Given the description of an element on the screen output the (x, y) to click on. 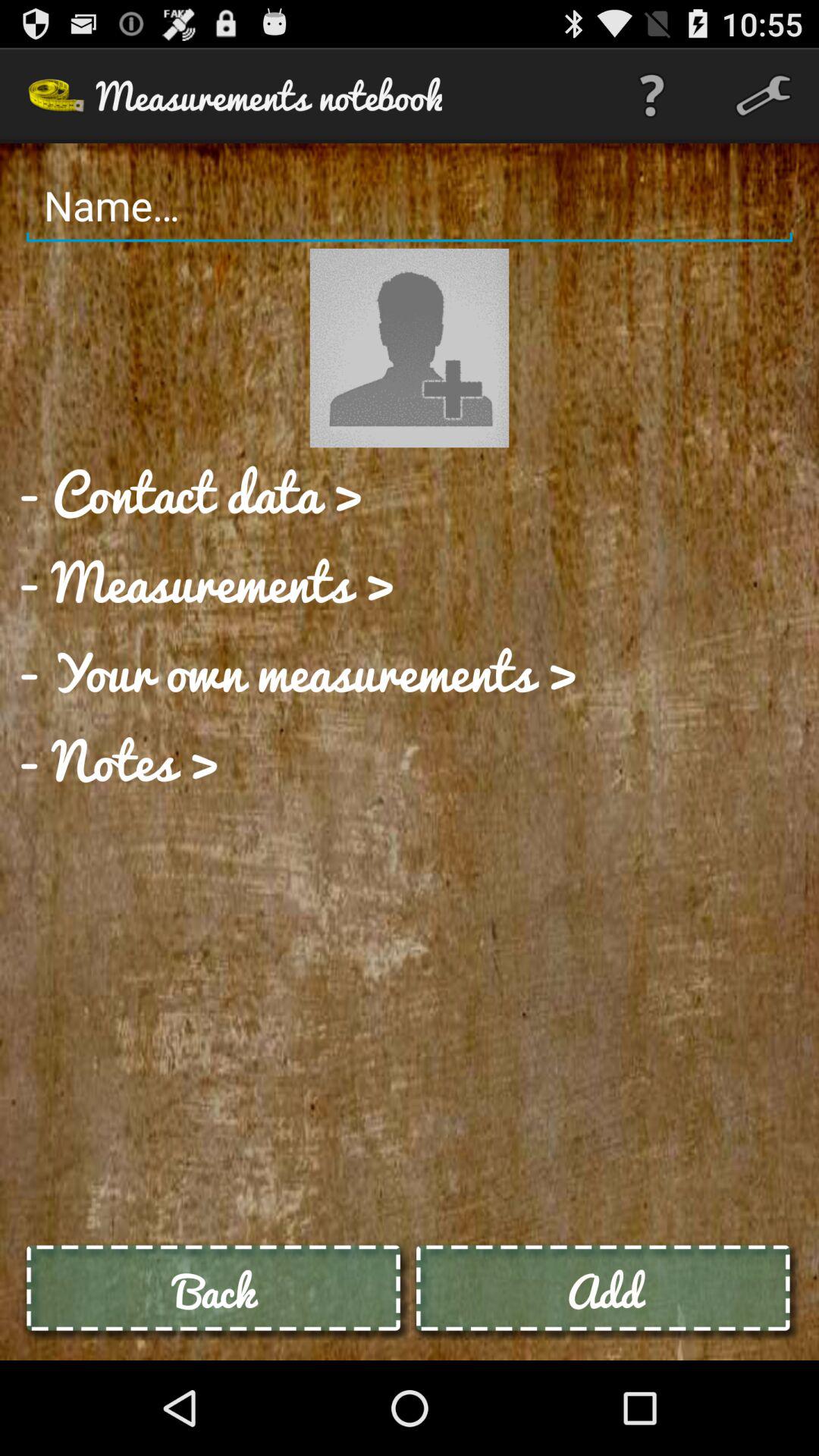
press app at the center (297, 670)
